Given the description of an element on the screen output the (x, y) to click on. 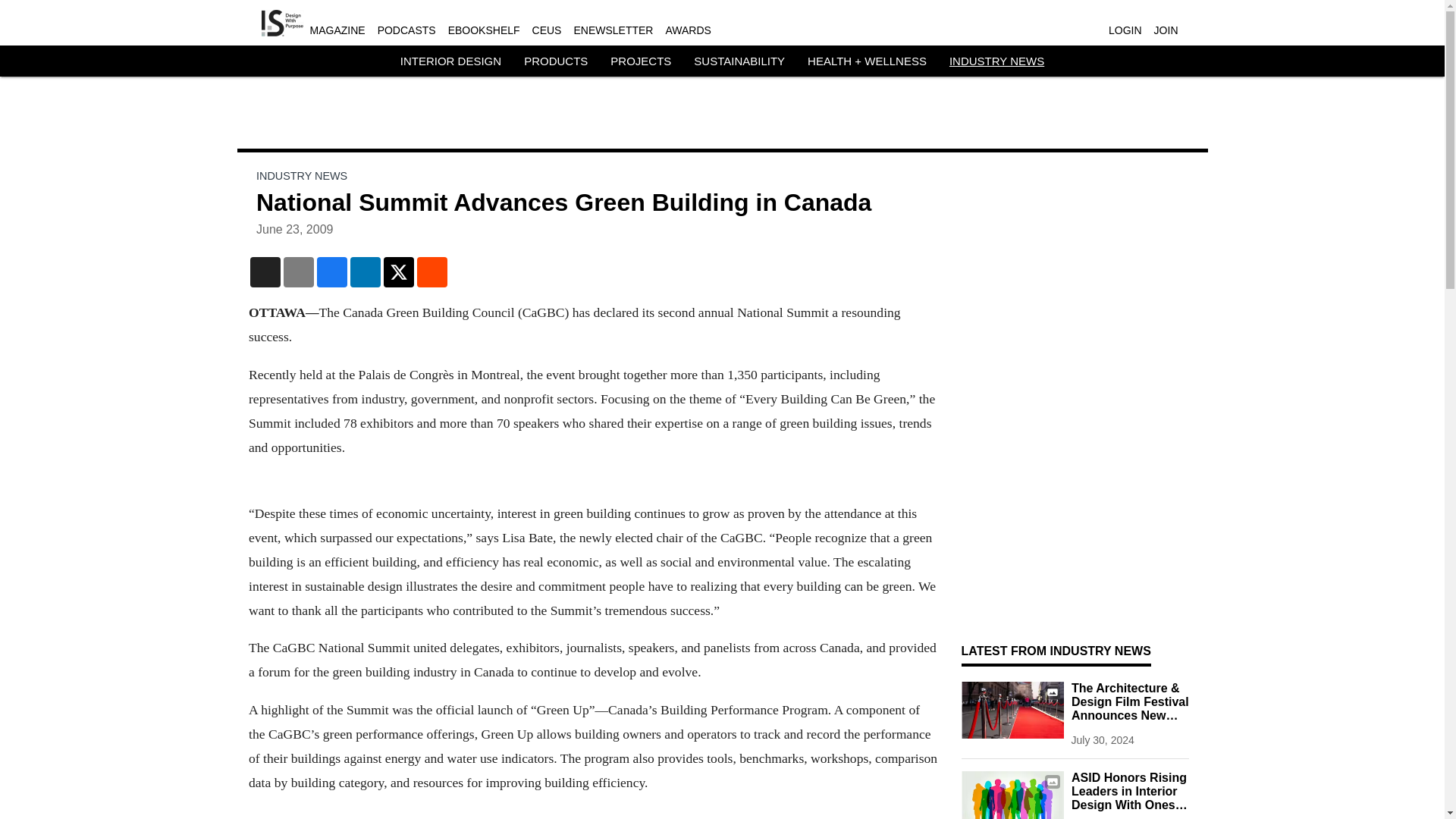
SUSTAINABILITY (739, 60)
EBOOKSHELF (483, 30)
PRODUCTS (556, 60)
ENEWSLETTER (612, 30)
INDUSTRY NEWS (996, 60)
PROJECTS (640, 60)
JOIN (1165, 30)
MAGAZINE (336, 30)
AWARDS (687, 30)
PODCASTS (406, 30)
